Given the description of an element on the screen output the (x, y) to click on. 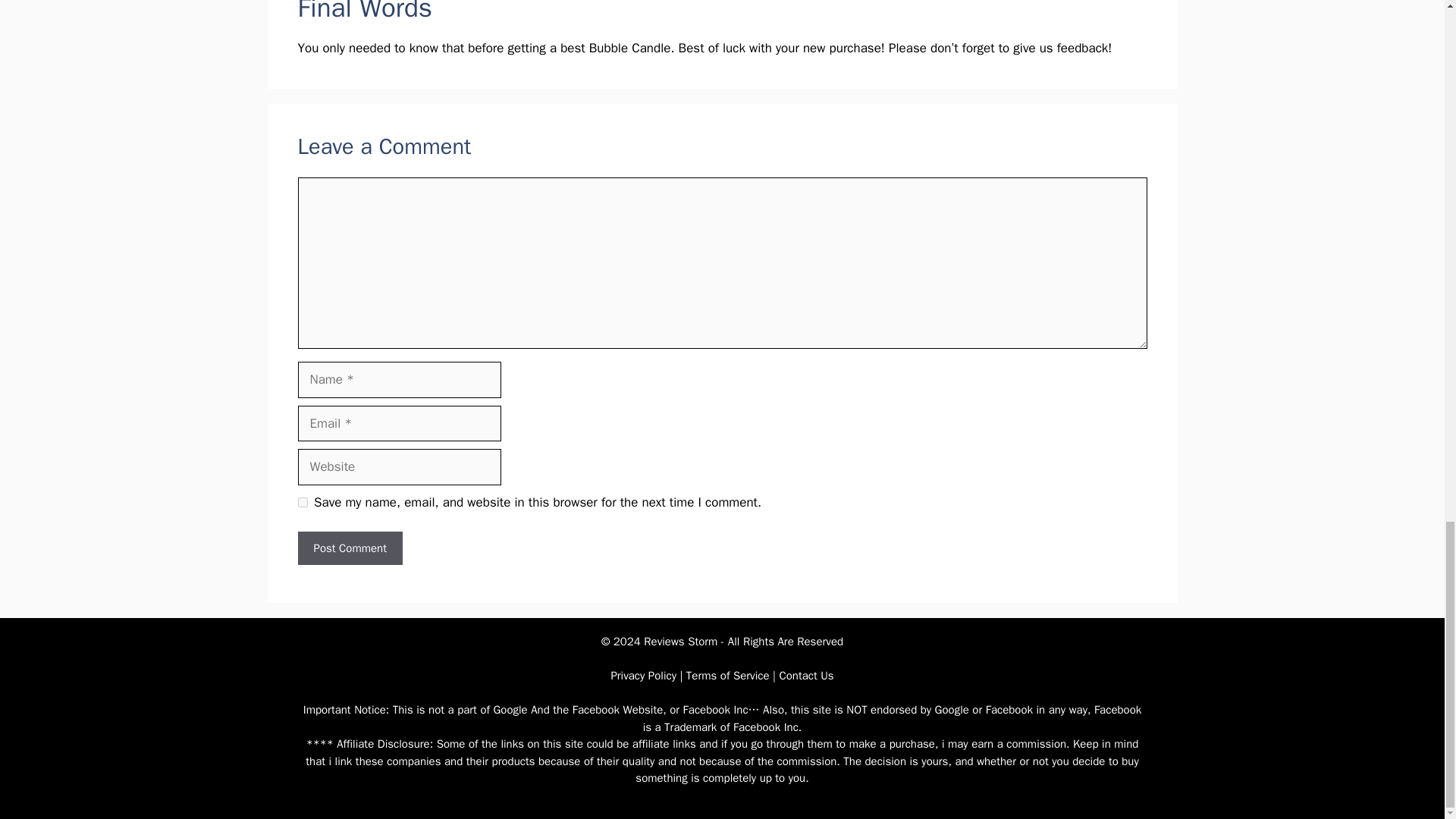
Post Comment (349, 548)
Terms of Service (727, 675)
Reviews Storm (680, 641)
Privacy Policy (643, 675)
yes (302, 501)
Contact Us (805, 675)
Post Comment (349, 548)
